Given the description of an element on the screen output the (x, y) to click on. 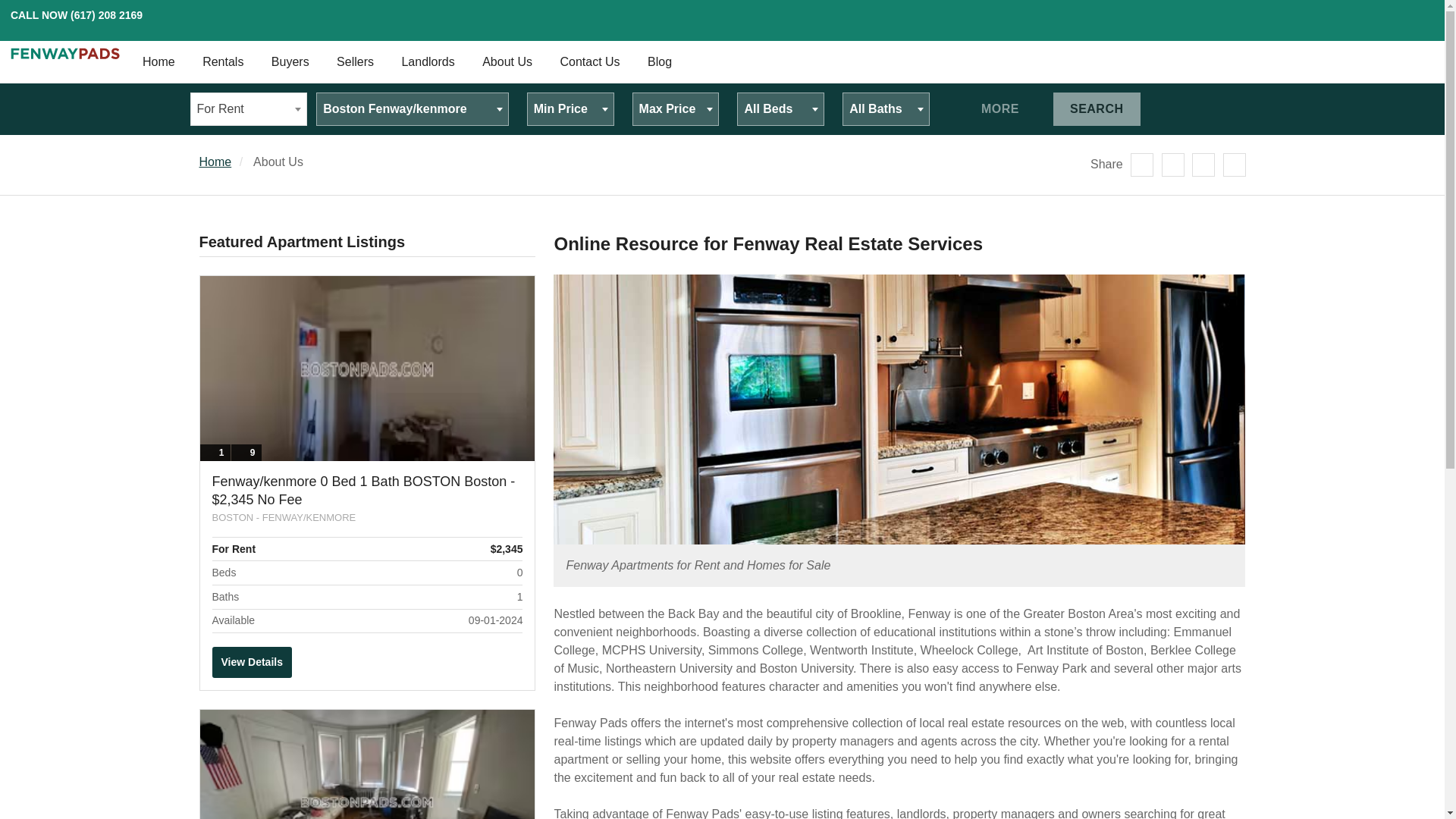
Landlords (426, 61)
Rentals (223, 61)
Buyers (290, 61)
Contact Us (589, 61)
Blog (659, 61)
Home (159, 61)
Sellers (354, 61)
For Rent (248, 109)
About Us (507, 61)
